Given the description of an element on the screen output the (x, y) to click on. 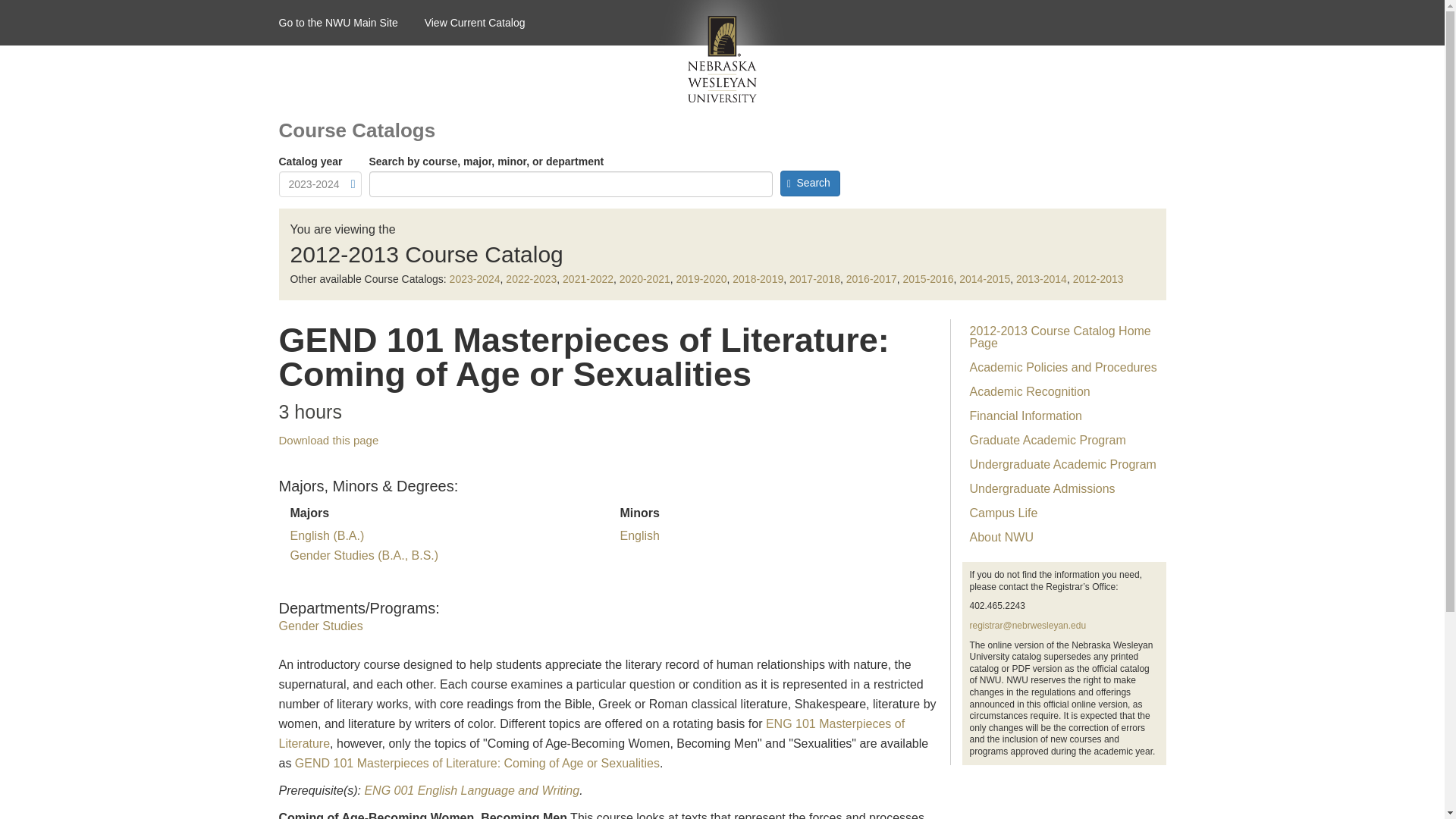
2015-2016 (927, 278)
Undergraduate Admissions (1063, 488)
English (639, 535)
2019-2020 (701, 278)
2021-2022 (587, 278)
Undergraduate Academic Program (1063, 464)
Download this page (328, 440)
Academic Policies and Procedures (1063, 367)
Go to the NWU Main Site (352, 22)
2012-2013 Course Catalog Home Page (1063, 337)
Search (809, 183)
ENG 001 English Language and Writing (471, 789)
2023-2024 (474, 278)
Financial Information (1063, 416)
